Given the description of an element on the screen output the (x, y) to click on. 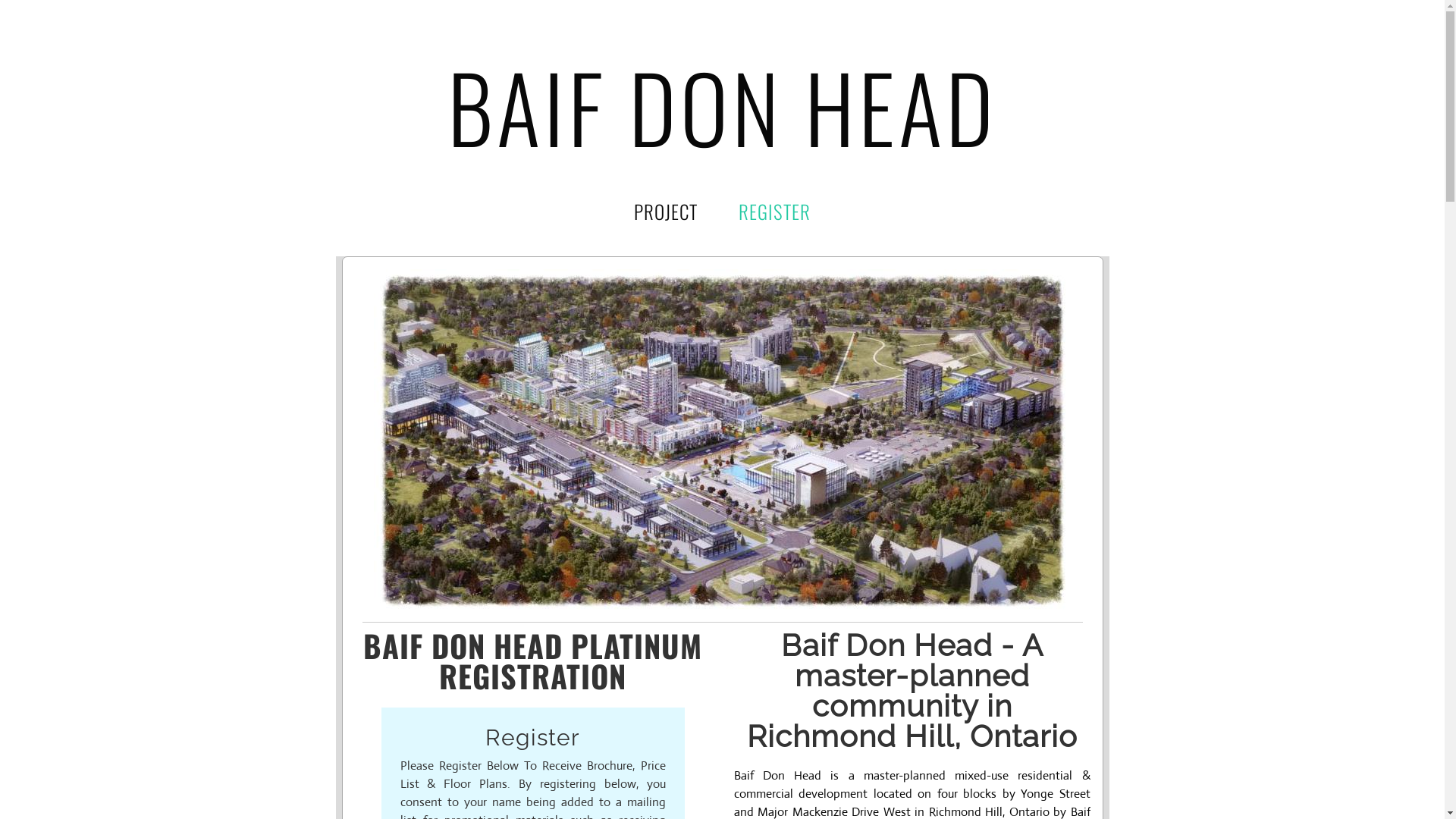
PROJECT Element type: text (665, 211)
BAIF DON HEAD Element type: text (722, 105)
REGISTER Element type: text (774, 211)
